Given the description of an element on the screen output the (x, y) to click on. 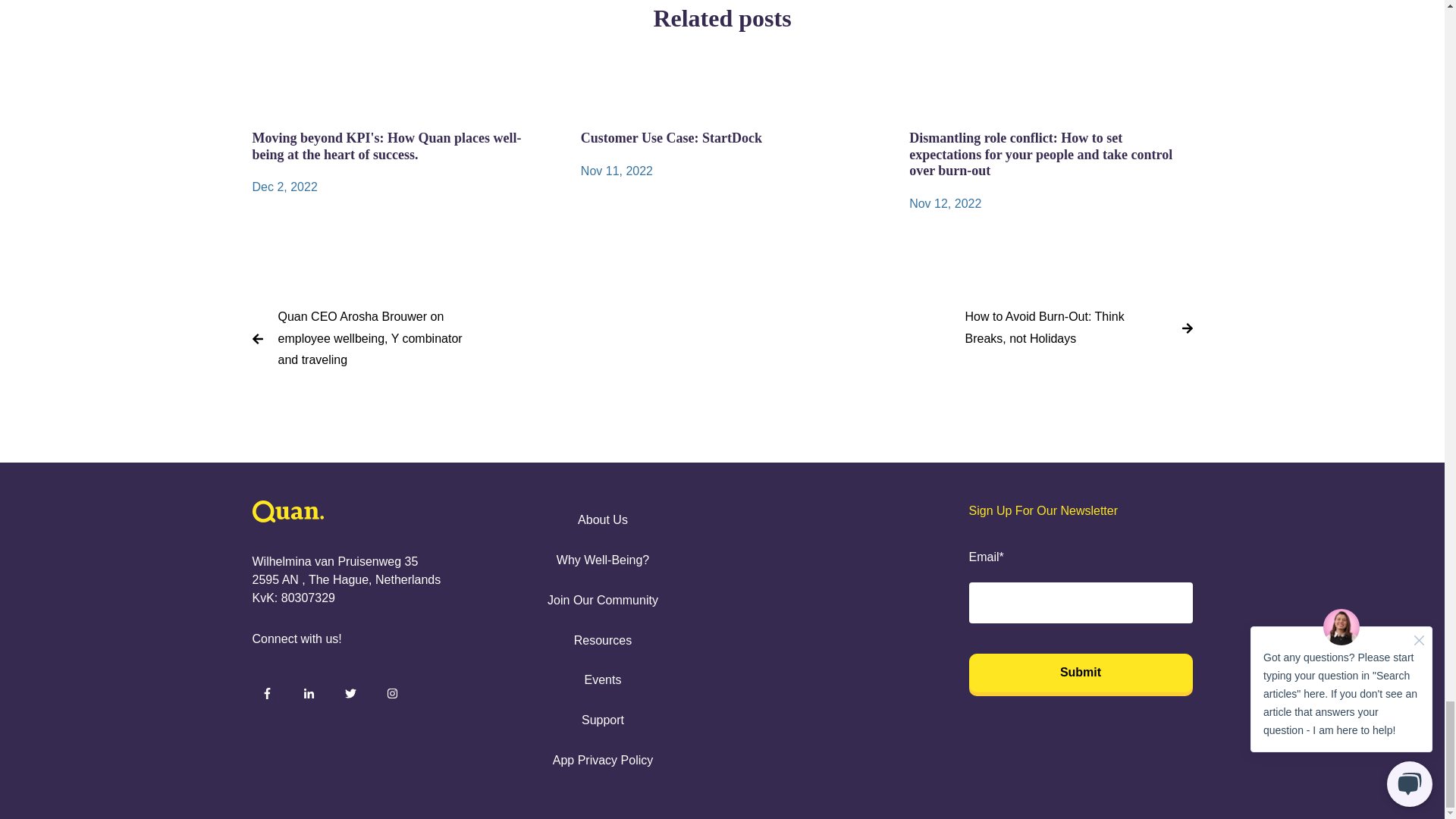
Submit (1080, 672)
